Given the description of an element on the screen output the (x, y) to click on. 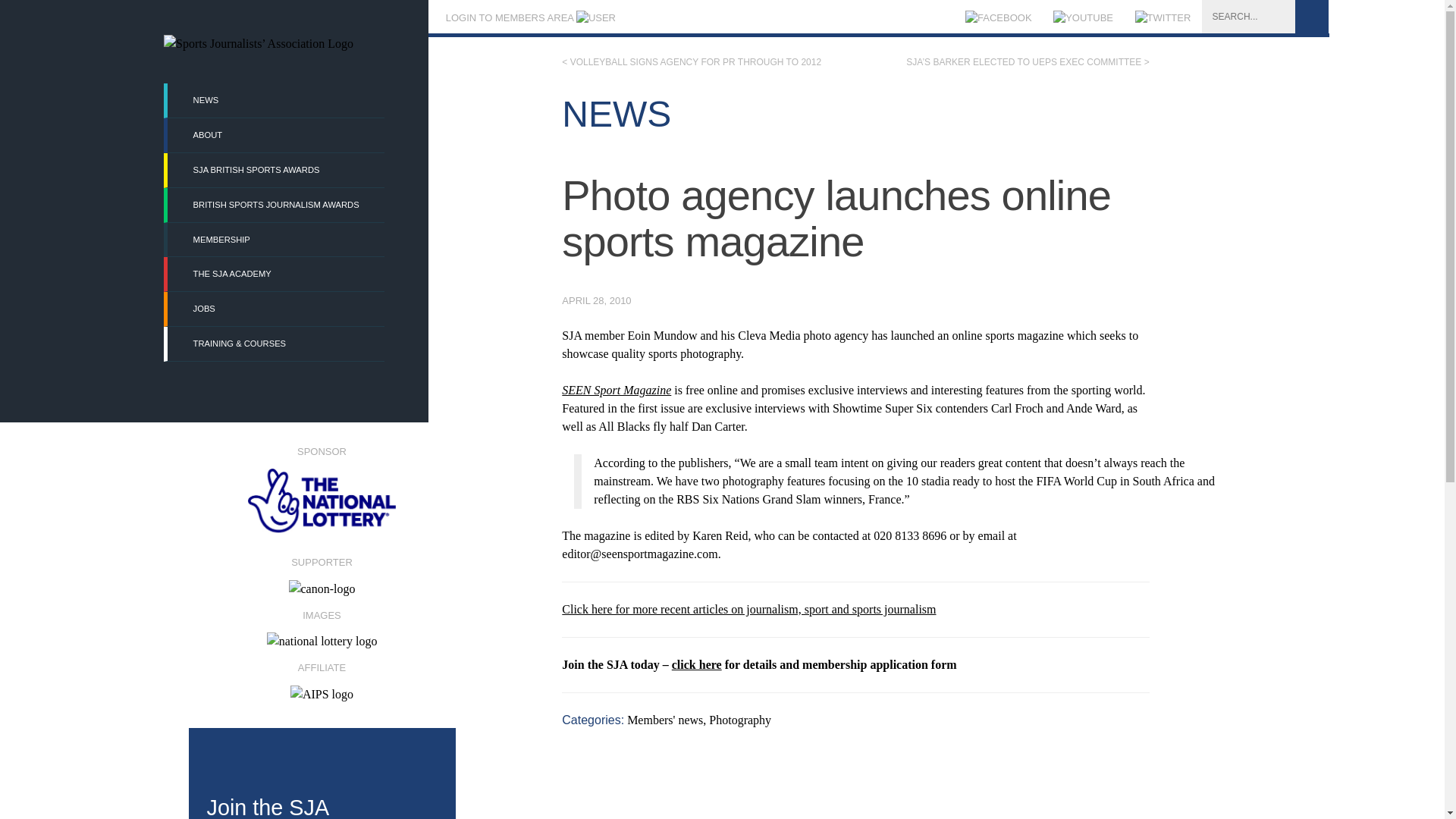
YouTube (1083, 18)
MEMBERSHIP (275, 239)
NEWS (275, 100)
APRIL 28, 2010 (596, 300)
JOBS (275, 308)
Login to Members Area (529, 18)
ABOUT (275, 134)
SPONSOR (320, 490)
SEEN Sport Magazine (616, 390)
IMAGES (320, 623)
SJA BRITISH SPORTS AWARDS (275, 170)
click here (696, 664)
BRITISH SPORTS JOURNALISM AWARDS (275, 204)
Click here for more sports journalism links (749, 608)
